Given the description of an element on the screen output the (x, y) to click on. 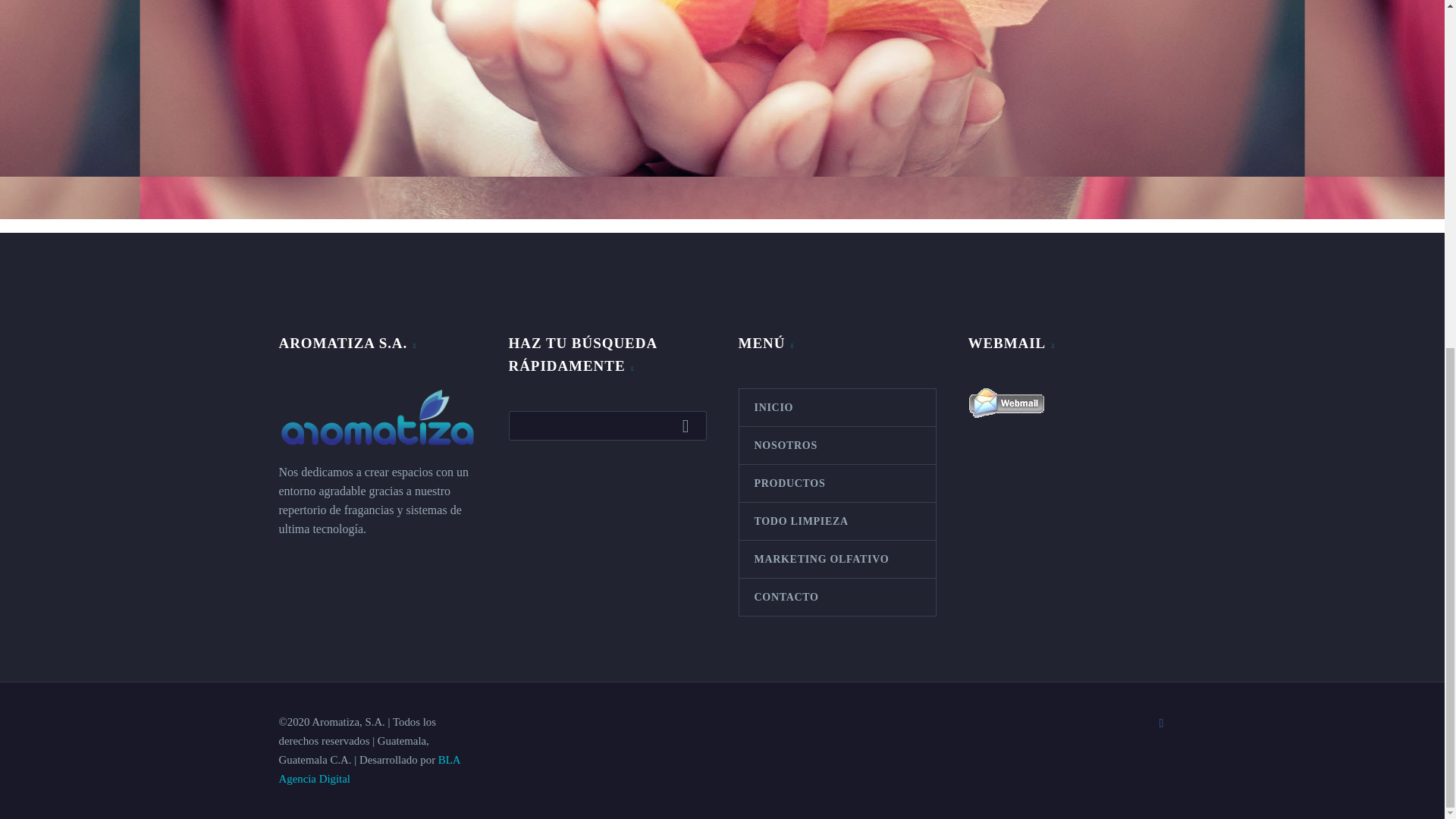
INICIO (836, 407)
MARKETING OLFATIVO (836, 559)
BLA Agencia Digital (369, 768)
CONTACTO (836, 596)
NOSOTROS (836, 445)
TODO LIMPIEZA (836, 520)
PRODUCTOS (836, 483)
BUSCAR (689, 425)
Facebook (1161, 723)
